Given the description of an element on the screen output the (x, y) to click on. 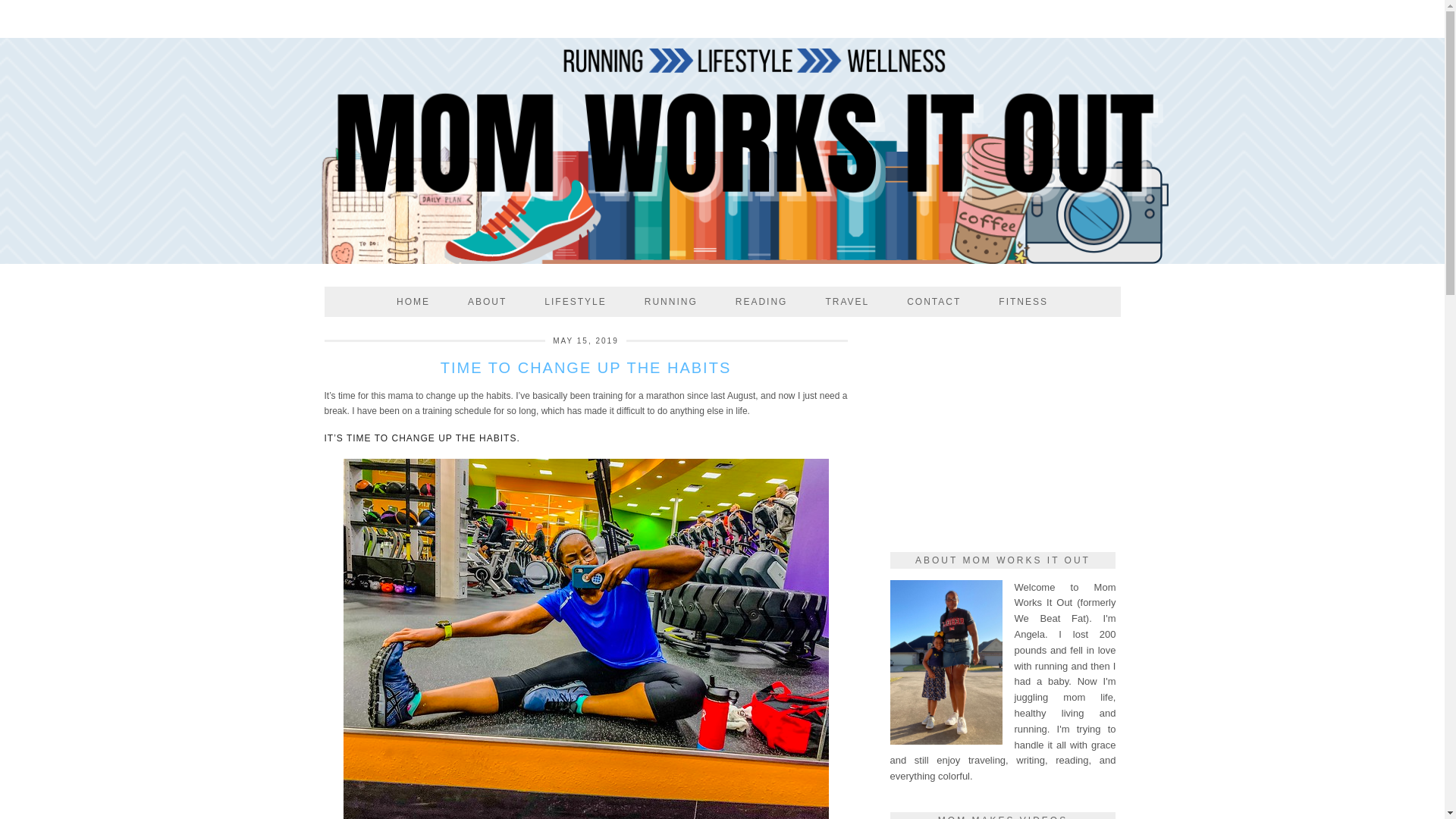
HOME (412, 301)
CONTACT (933, 301)
READING (761, 301)
LIFESTYLE (574, 301)
TRAVEL (847, 301)
RUNNING (671, 301)
FITNESS (1023, 301)
ABOUT (486, 301)
